Given the description of an element on the screen output the (x, y) to click on. 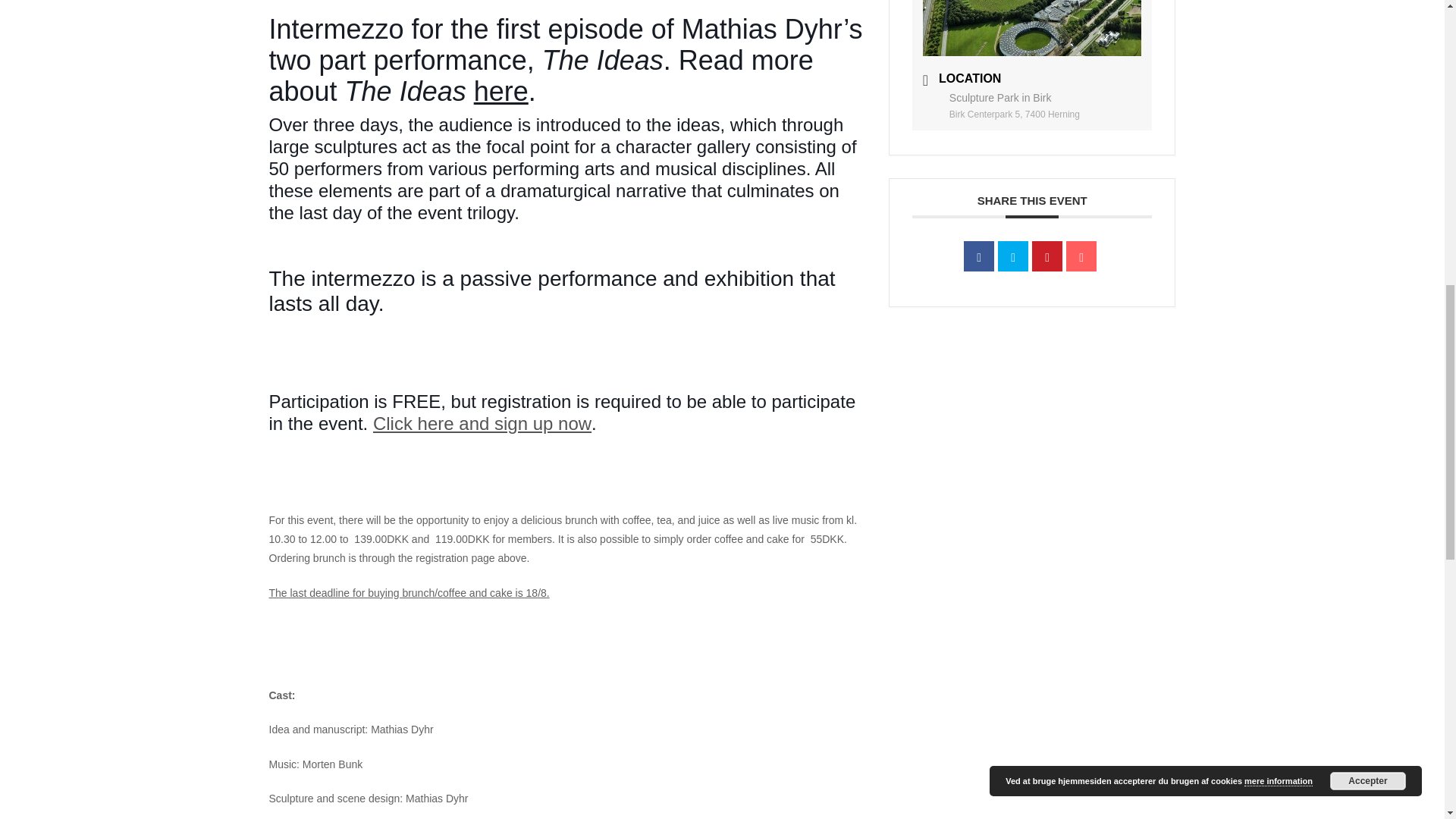
Share on Pinterest (1047, 255)
Tweet (1012, 255)
Share on Facebook (978, 255)
Email (1080, 255)
Click here and sign up now (481, 423)
